Given the description of an element on the screen output the (x, y) to click on. 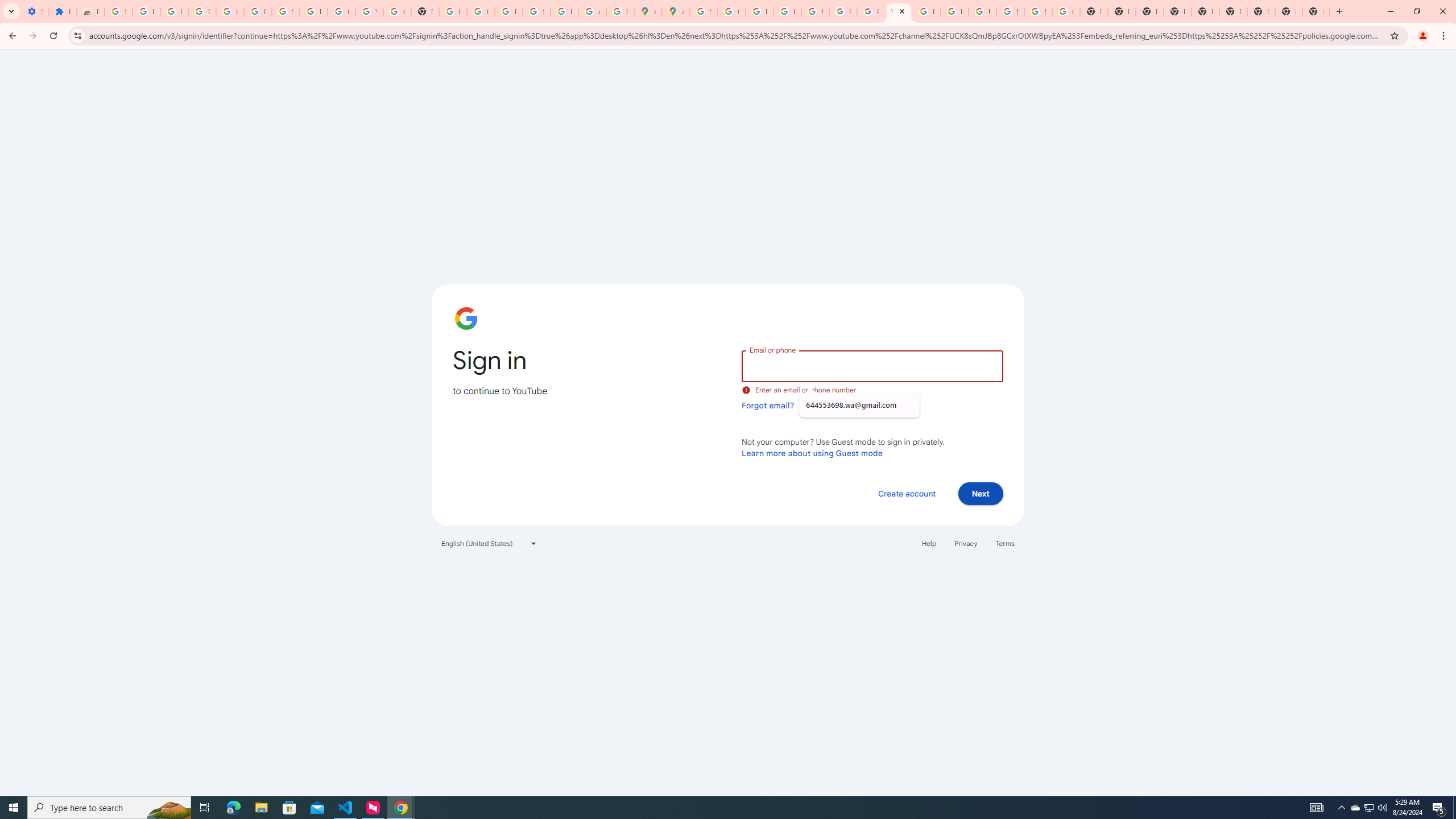
New Tab (1177, 11)
Privacy Help Center - Policies Help (787, 11)
New Tab (1316, 11)
YouTube (369, 11)
https://scholar.google.com/ (452, 11)
644553698.wa@gmail.com (858, 404)
Google Account (341, 11)
